Given the description of an element on the screen output the (x, y) to click on. 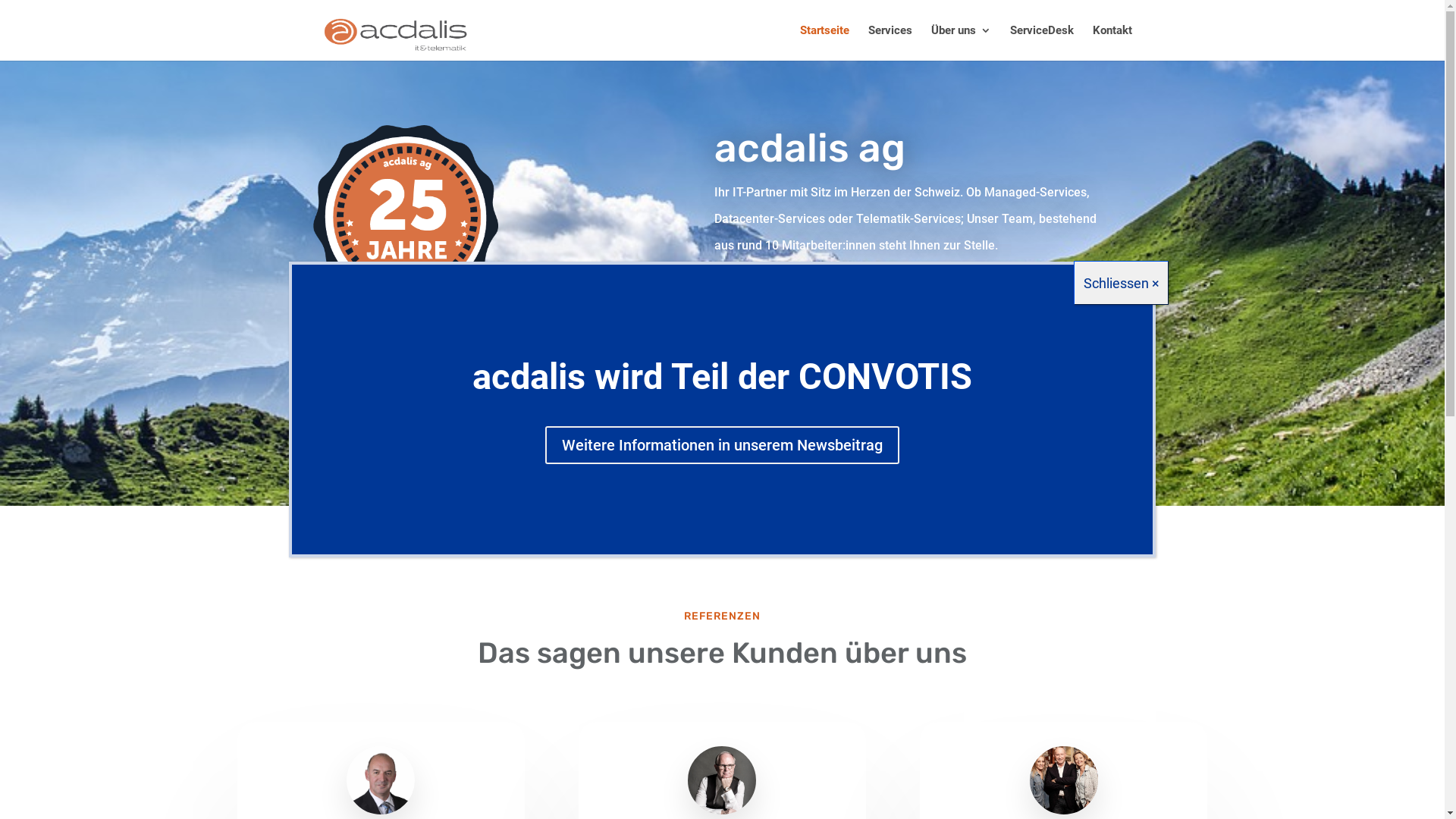
Datacenter Services Element type: text (1032, 299)
25 Jahre Button Element type: hover (405, 247)
Kontakt Element type: text (1111, 42)
Managed Services Element type: text (812, 299)
Services Element type: text (889, 42)
Startseite Element type: text (823, 42)
Telematik Services Element type: text (814, 351)
Backup Services Element type: text (1025, 351)
Weitere Informationen in unserem Newsbeitrag Element type: text (722, 445)
ServiceDesk Element type: text (1041, 42)
